Given the description of an element on the screen output the (x, y) to click on. 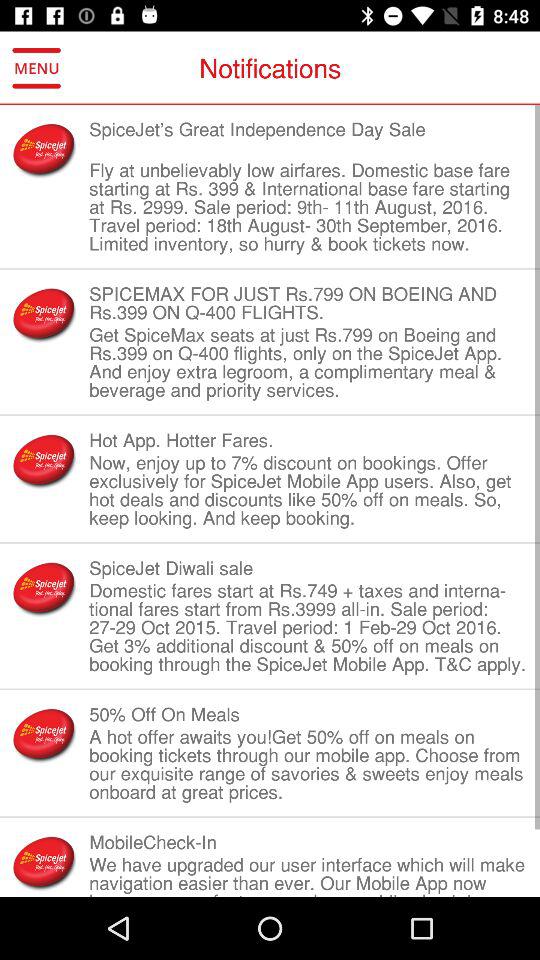
press item below the spicejet s great (307, 207)
